Given the description of an element on the screen output the (x, y) to click on. 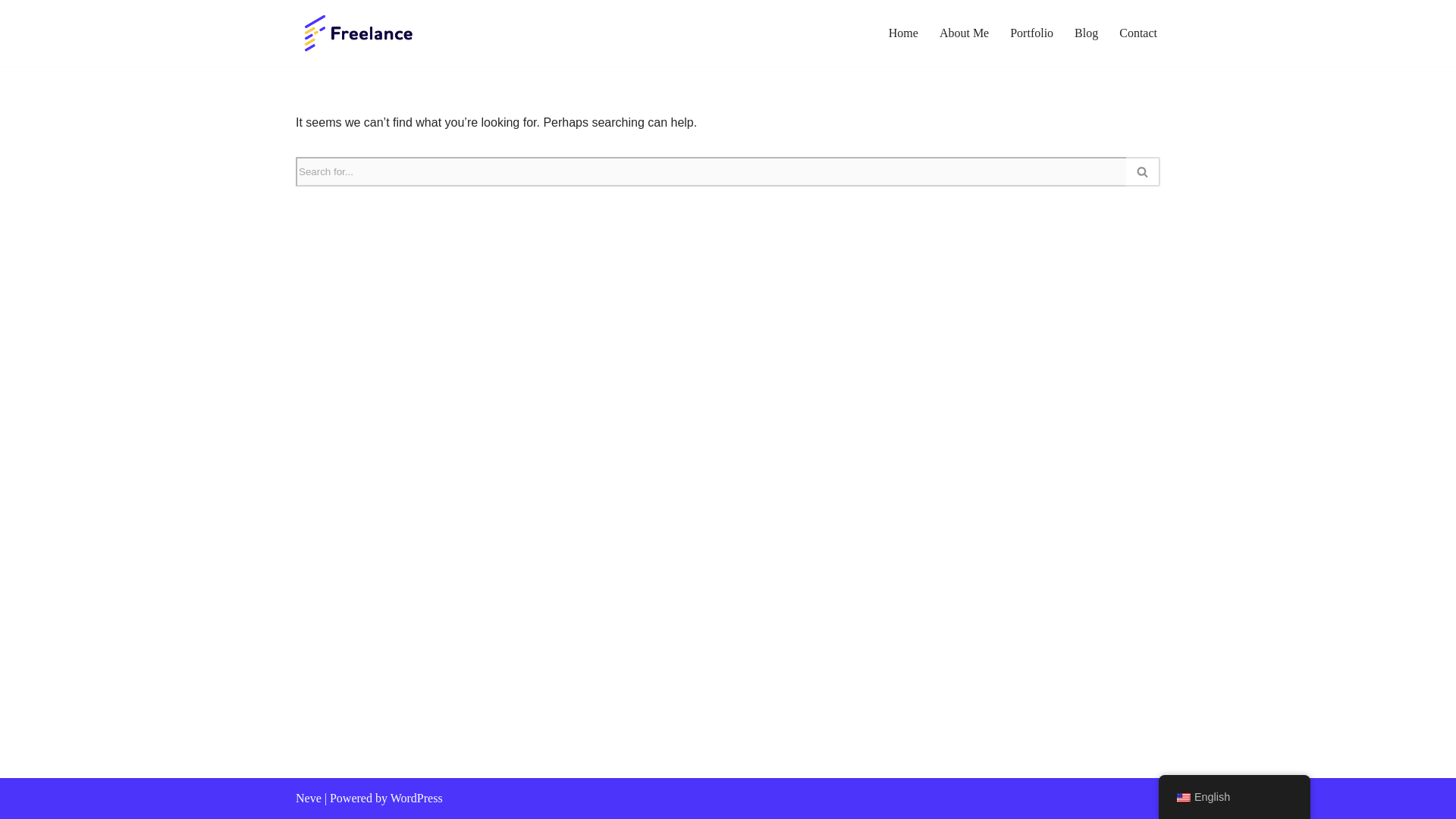
Skip to content (11, 31)
Contact (1138, 32)
Neve (308, 797)
Home (903, 32)
Portfolio (1031, 32)
English (1234, 796)
About Me (963, 32)
Blog (1085, 32)
English (1183, 797)
WordPress (416, 797)
